Given the description of an element on the screen output the (x, y) to click on. 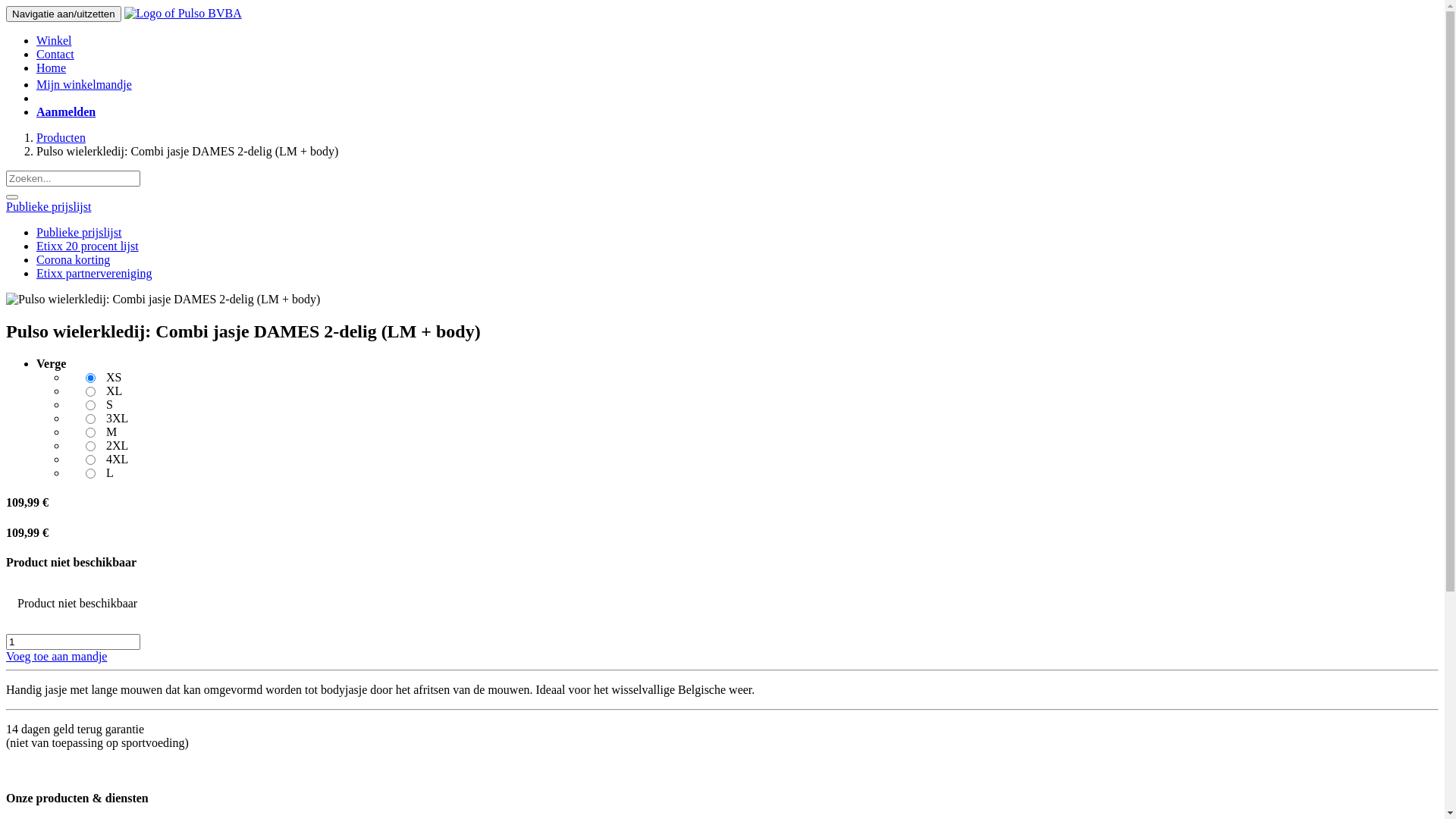
Mijn winkelmandje Element type: text (83, 84)
Etixx partnervereniging Element type: text (93, 272)
Pulso BVBA Element type: hover (182, 13)
Winkel Element type: text (53, 40)
Producten Element type: text (60, 137)
Corona korting Element type: text (72, 259)
Contact Element type: text (55, 53)
Etixx 20 procent lijst Element type: text (87, 245)
Publieke prijslijst Element type: text (78, 231)
Home Element type: text (50, 67)
Aanmelden Element type: text (65, 111)
Voeg toe aan mandje Element type: text (56, 655)
Navigatie aan/uitzetten Element type: text (63, 13)
Publieke prijslijst Element type: text (48, 206)
